Given the description of an element on the screen output the (x, y) to click on. 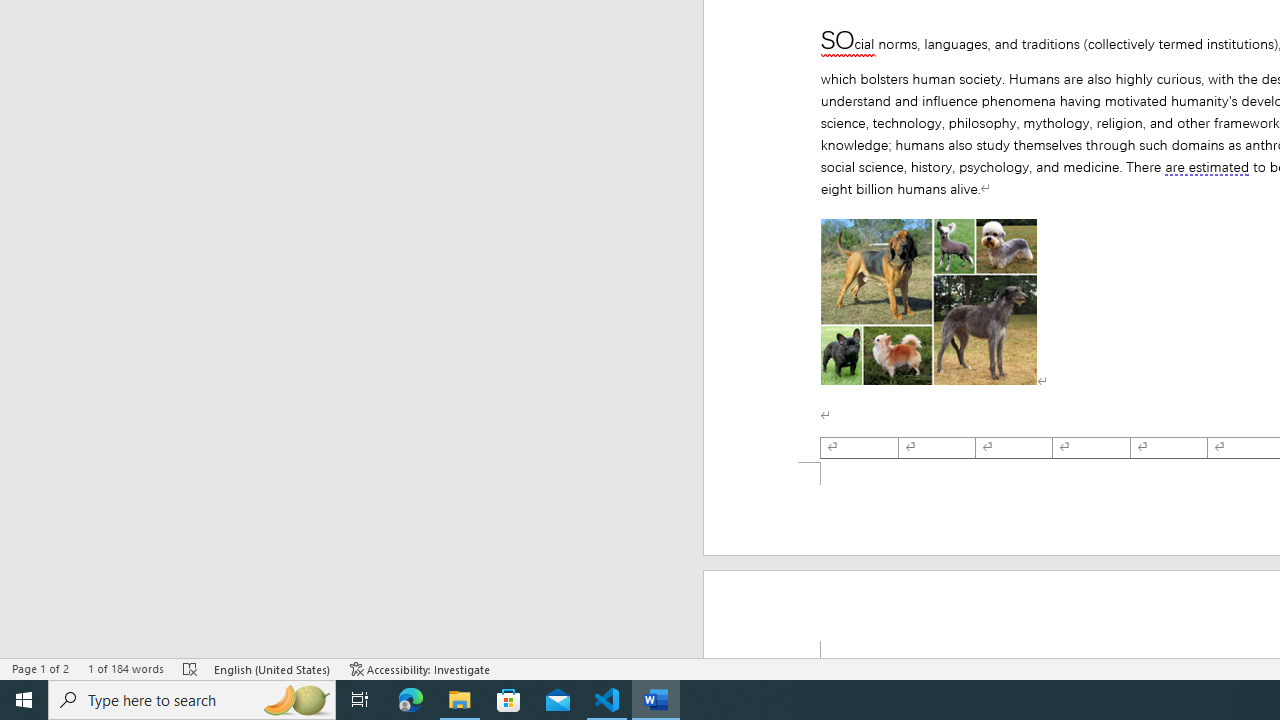
Language English (United States) (273, 668)
Accessibility Checker Accessibility: Investigate (420, 668)
Spelling and Grammar Check Errors (191, 668)
Page Number Page 1 of 2 (39, 668)
Morphological variation in six dogs (928, 301)
